Given the description of an element on the screen output the (x, y) to click on. 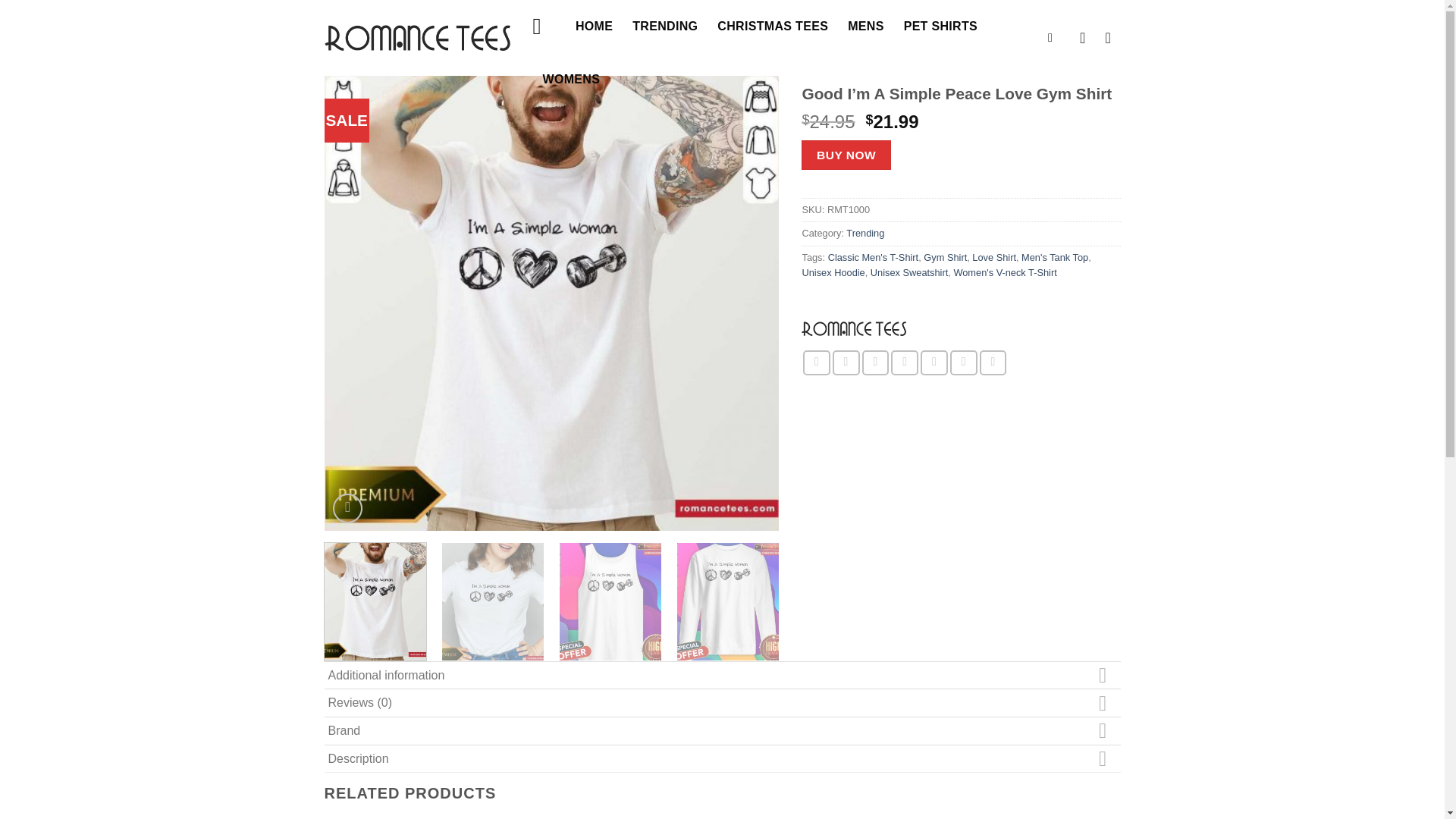
RomanceTees - Shopping T-shirts with the latest trends (417, 37)
Unisex Sweatshirt (908, 272)
WOMENS (571, 79)
PET SHIRTS (940, 26)
Share on LinkedIn (963, 362)
Classic Men's T-Shirt (873, 256)
Pin on Pinterest (904, 362)
Gym Shirt (944, 256)
Share on VKontakte (933, 362)
Share on Twitter (846, 362)
